Given the description of an element on the screen output the (x, y) to click on. 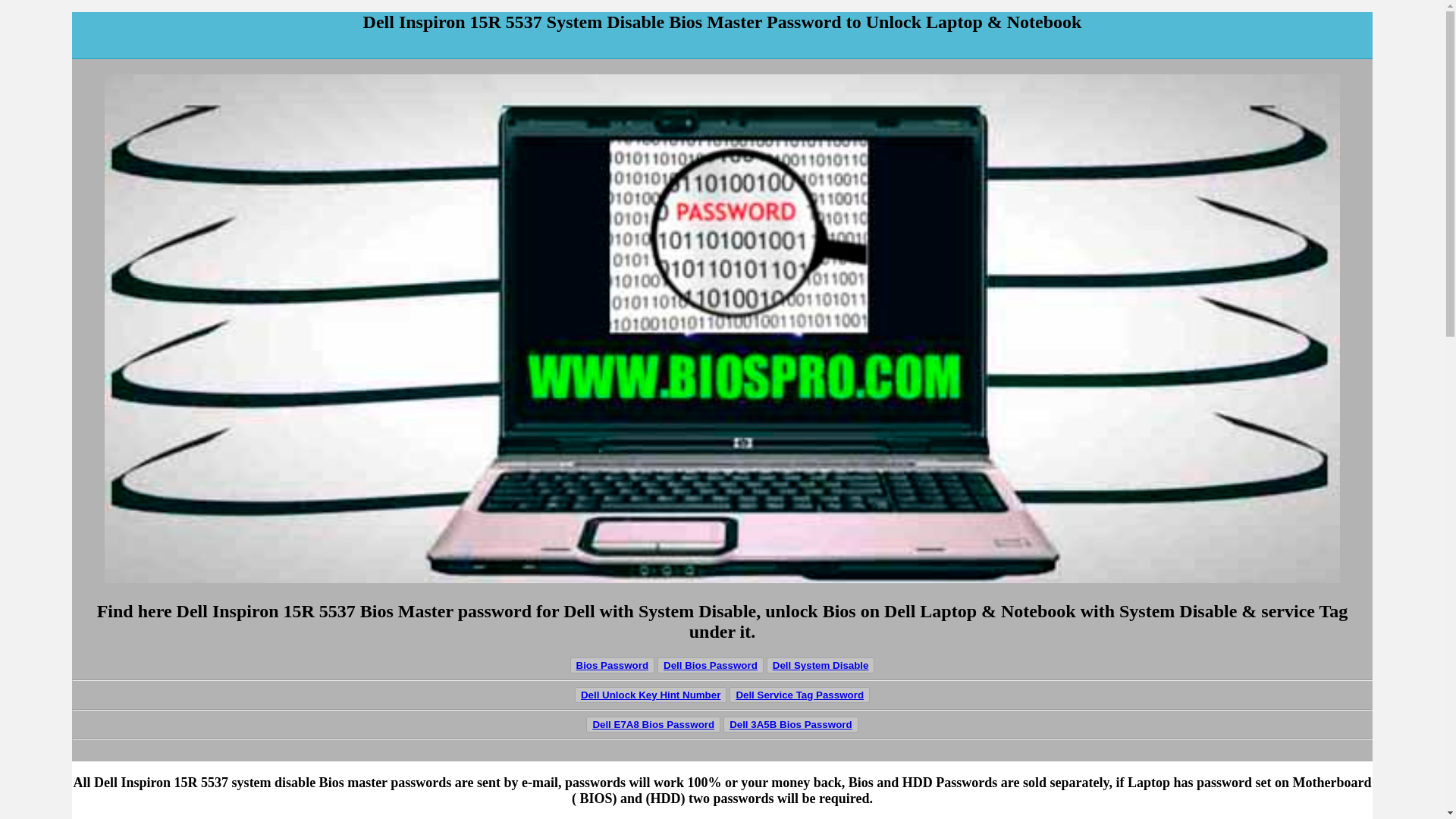
Dell 3A5B Bios Password (790, 724)
Dell Bios Password (710, 665)
Dell E7A8 Bios Password (653, 724)
Dell 3A5B Bios Password (790, 724)
Bios Password (612, 665)
Dell Unlock Key Hint Number (650, 695)
Dell E7A8 Bios Password (653, 724)
Dell Unlock Key Hint Number (650, 694)
Dell System Disable (821, 665)
Dell Unlock Key Hint Number Password (650, 695)
Dell Service Tag Password (799, 695)
Dell System Disable (821, 665)
Dell Service Tag Password (799, 694)
Dell System Disable Password (821, 665)
Dell Bios password reset (710, 665)
